Given the description of an element on the screen output the (x, y) to click on. 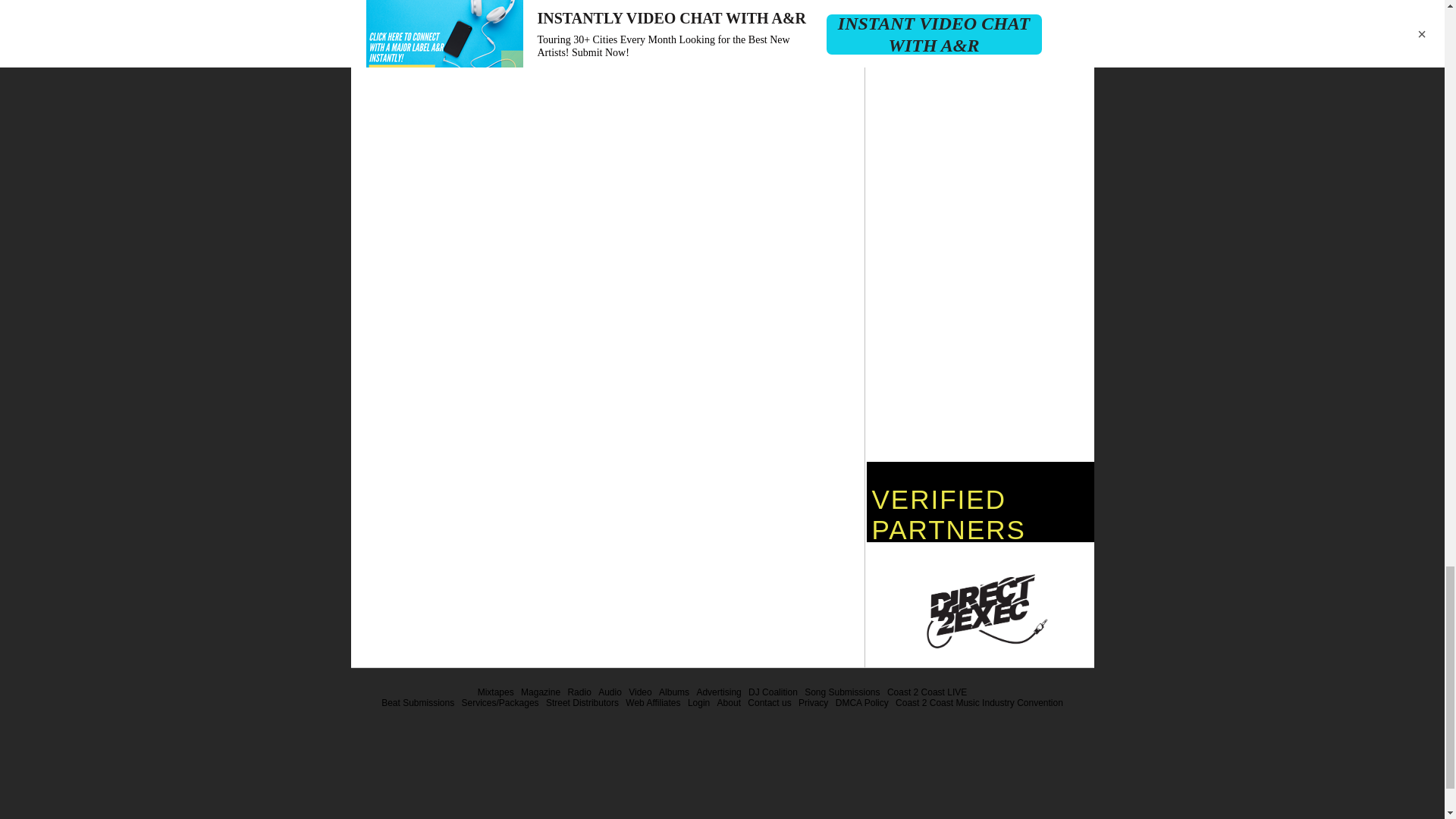
Interactive Showcase Events (926, 692)
